Given the description of an element on the screen output the (x, y) to click on. 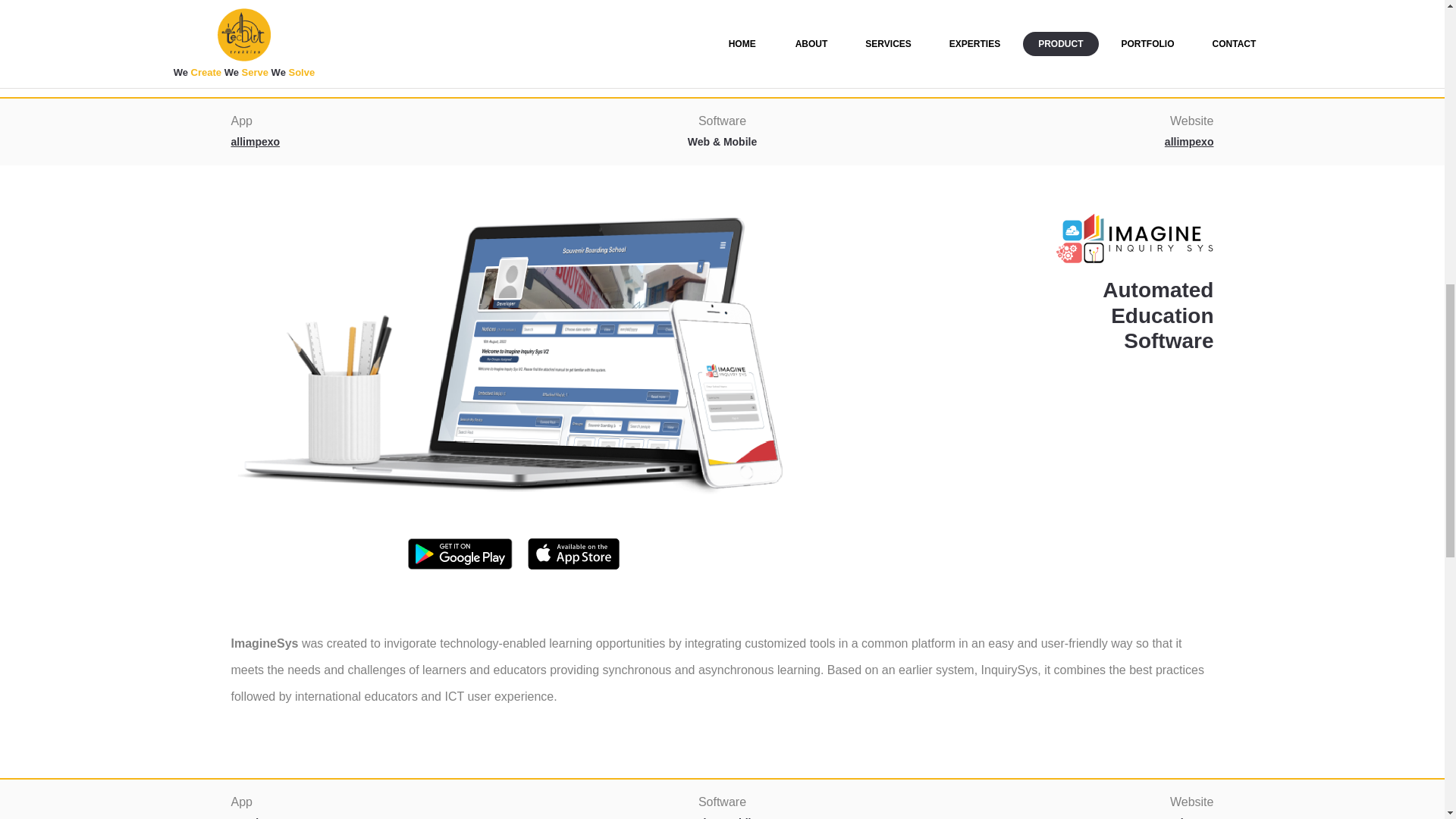
Imaginesys (259, 817)
allimpexo (254, 141)
allimpexo (1189, 141)
Imaginesys (1184, 817)
